Given the description of an element on the screen output the (x, y) to click on. 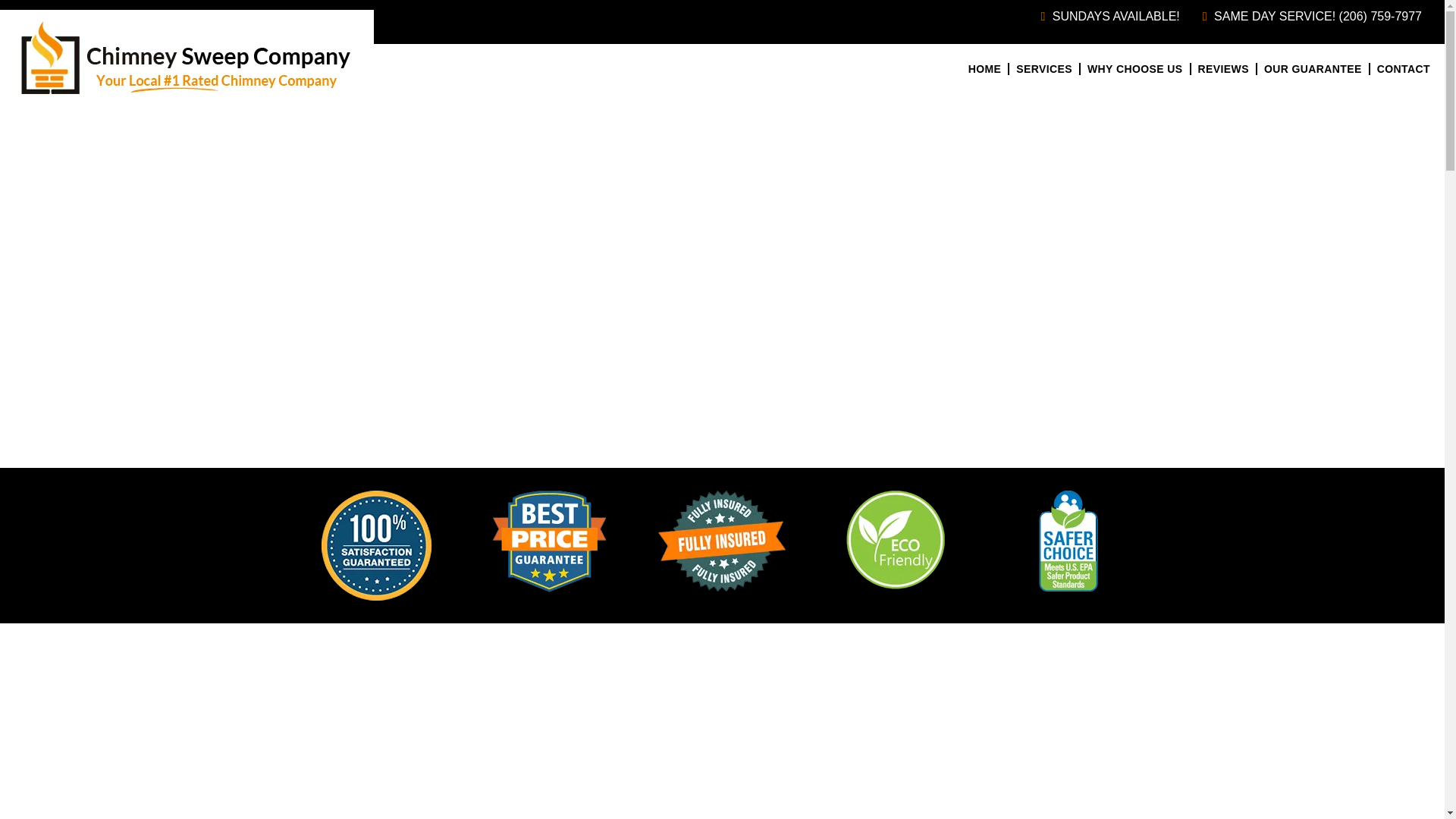
WHY CHOOSE US (1134, 68)
CONTACT (1403, 68)
SERVICES (1043, 68)
REVIEWS (1223, 68)
OUR GUARANTEE (1312, 68)
HOME (984, 68)
